Given the description of an element on the screen output the (x, y) to click on. 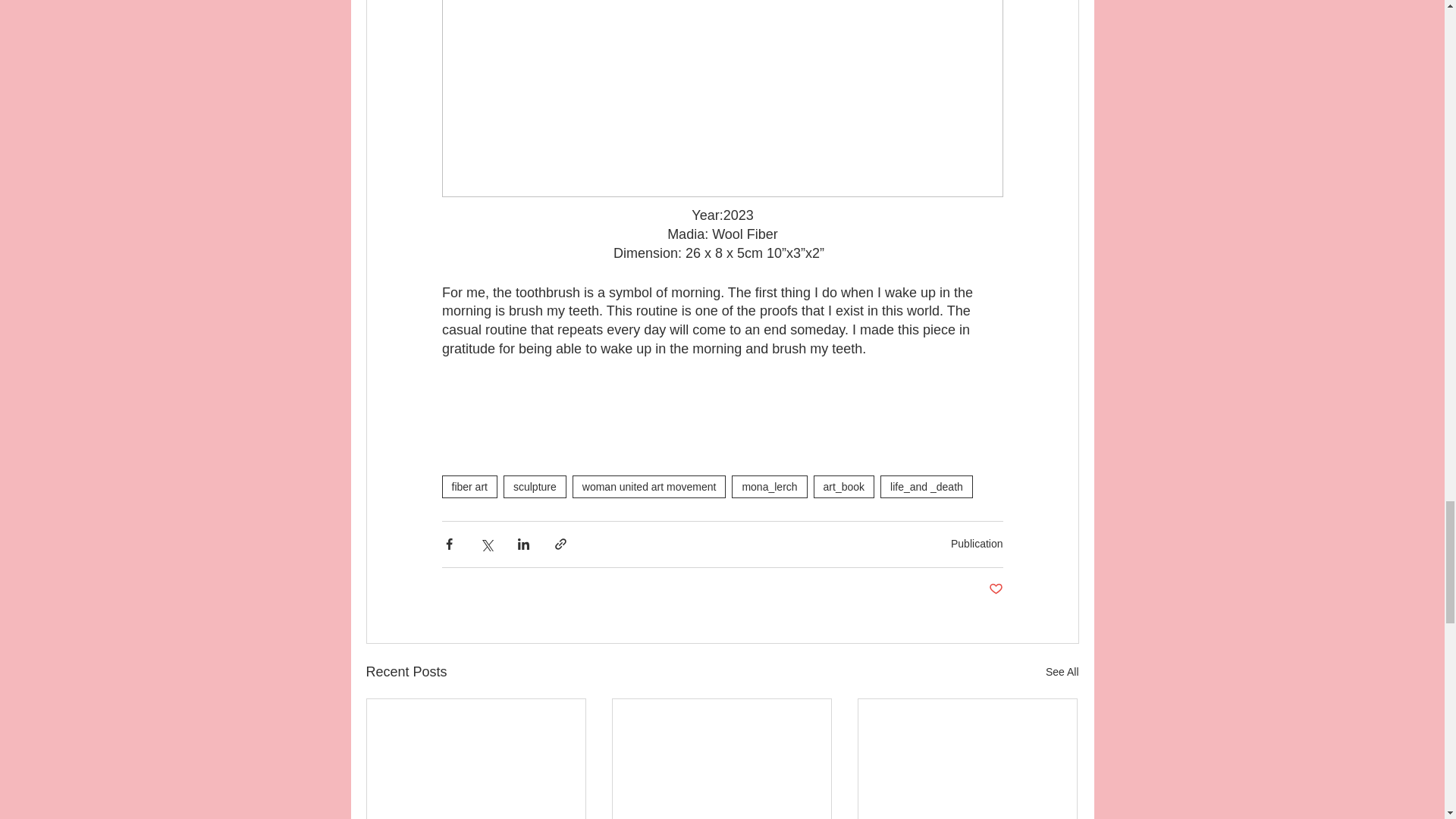
sculpture (534, 486)
woman united art movement (649, 486)
See All (1061, 671)
Publication (976, 543)
fiber art (468, 486)
Post not marked as liked (995, 589)
